Given the description of an element on the screen output the (x, y) to click on. 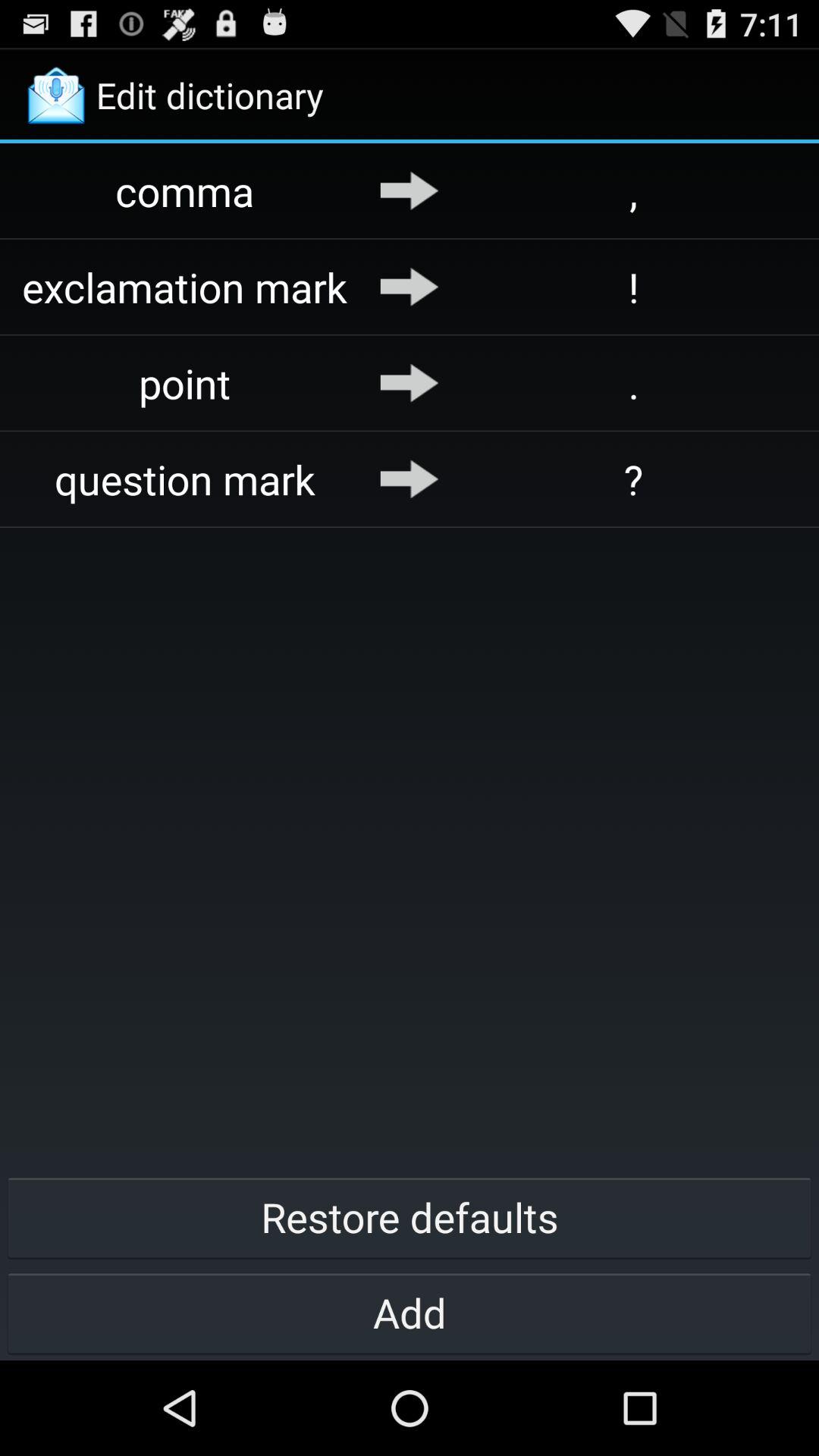
turn on exclamation mark (185, 286)
